Given the description of an element on the screen output the (x, y) to click on. 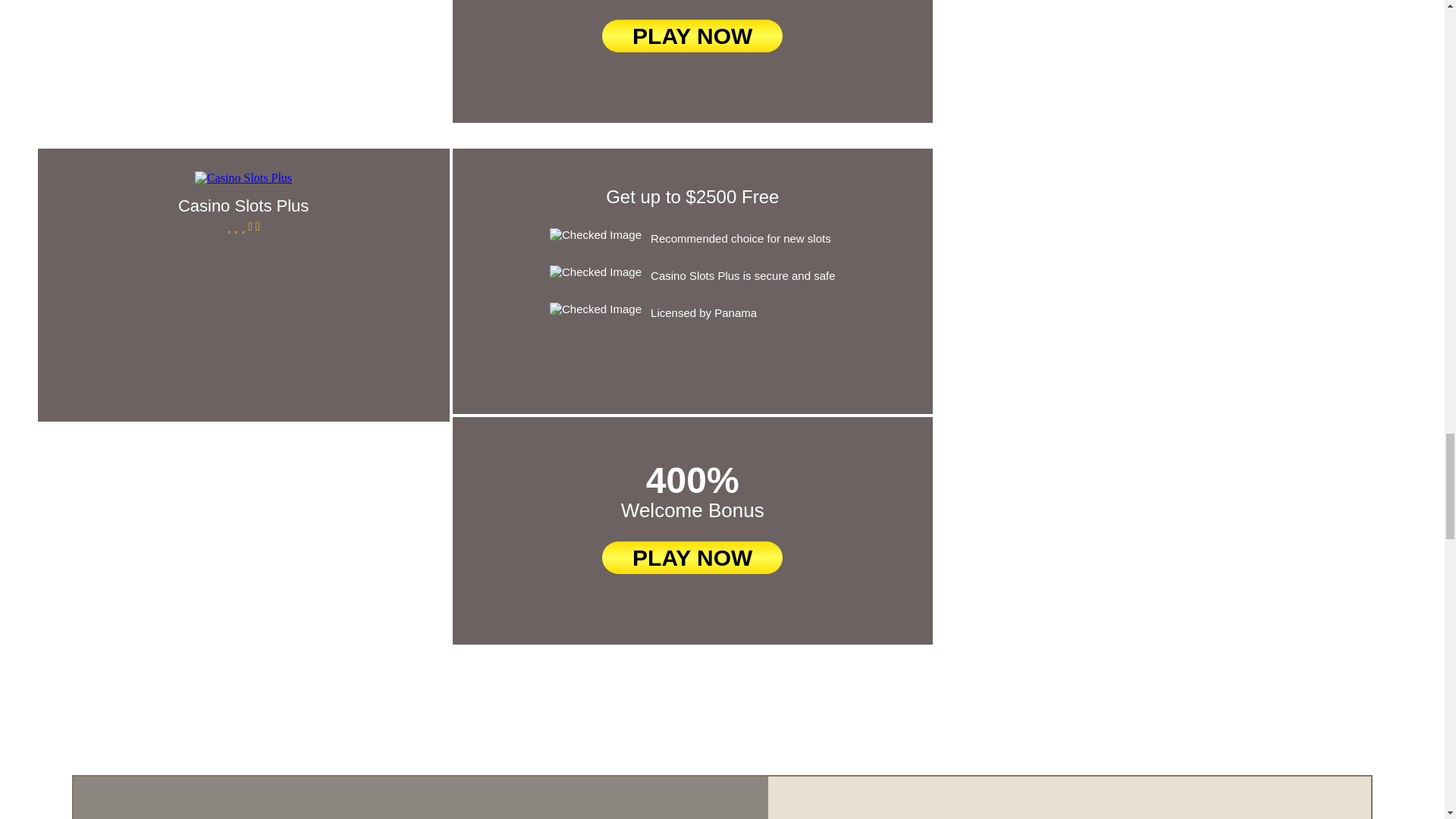
PLAY NOW (692, 557)
PLAY NOW (692, 35)
Casino Slots Plus (242, 205)
